Given the description of an element on the screen output the (x, y) to click on. 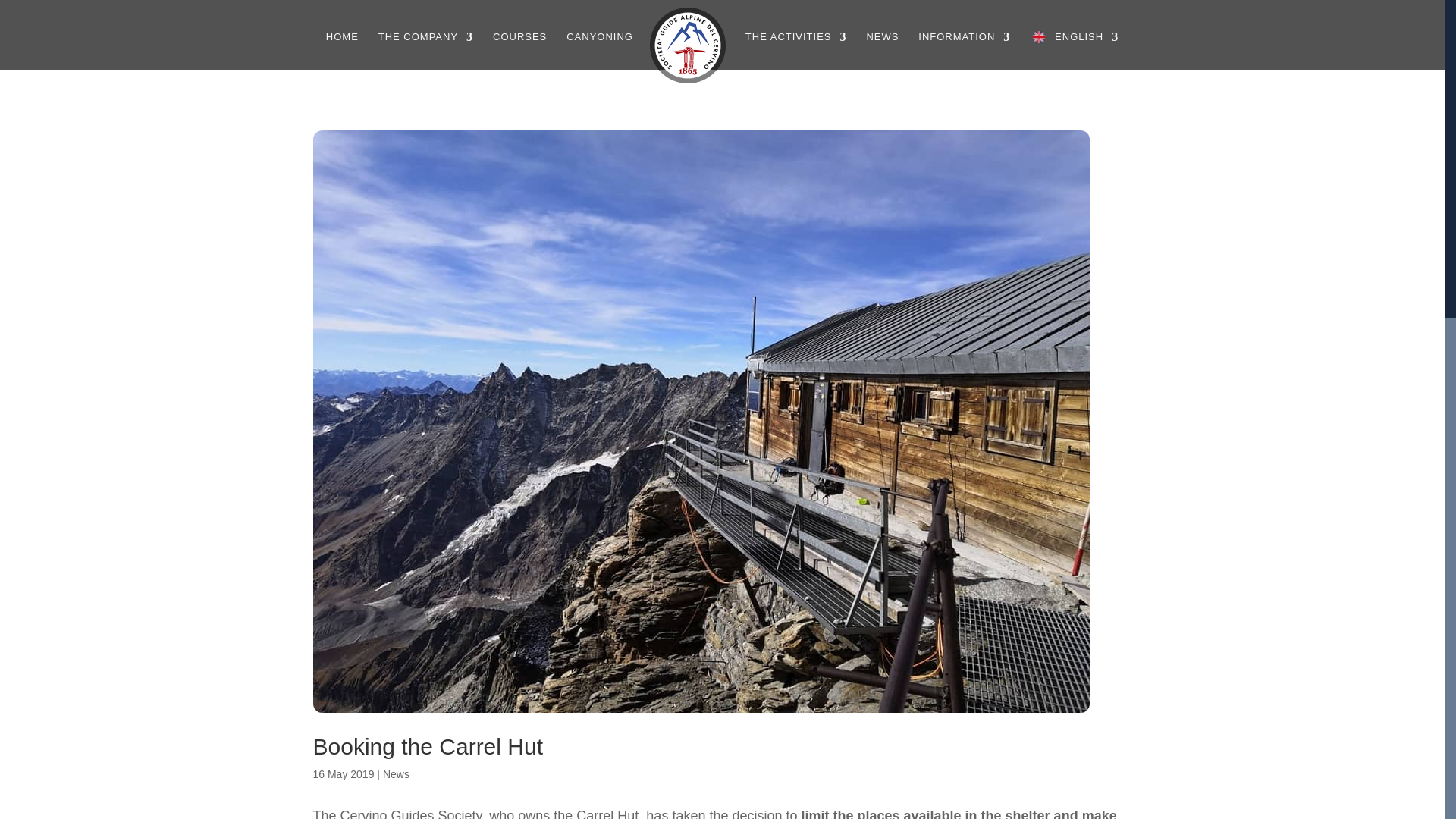
English (1073, 50)
THE COMPANY (425, 49)
THE ACTIVITIES (796, 49)
CANYONING (599, 49)
HOME (342, 49)
INFORMATION (964, 49)
COURSES (520, 49)
ENGLISH (1073, 50)
NEWS (882, 49)
